Given the description of an element on the screen output the (x, y) to click on. 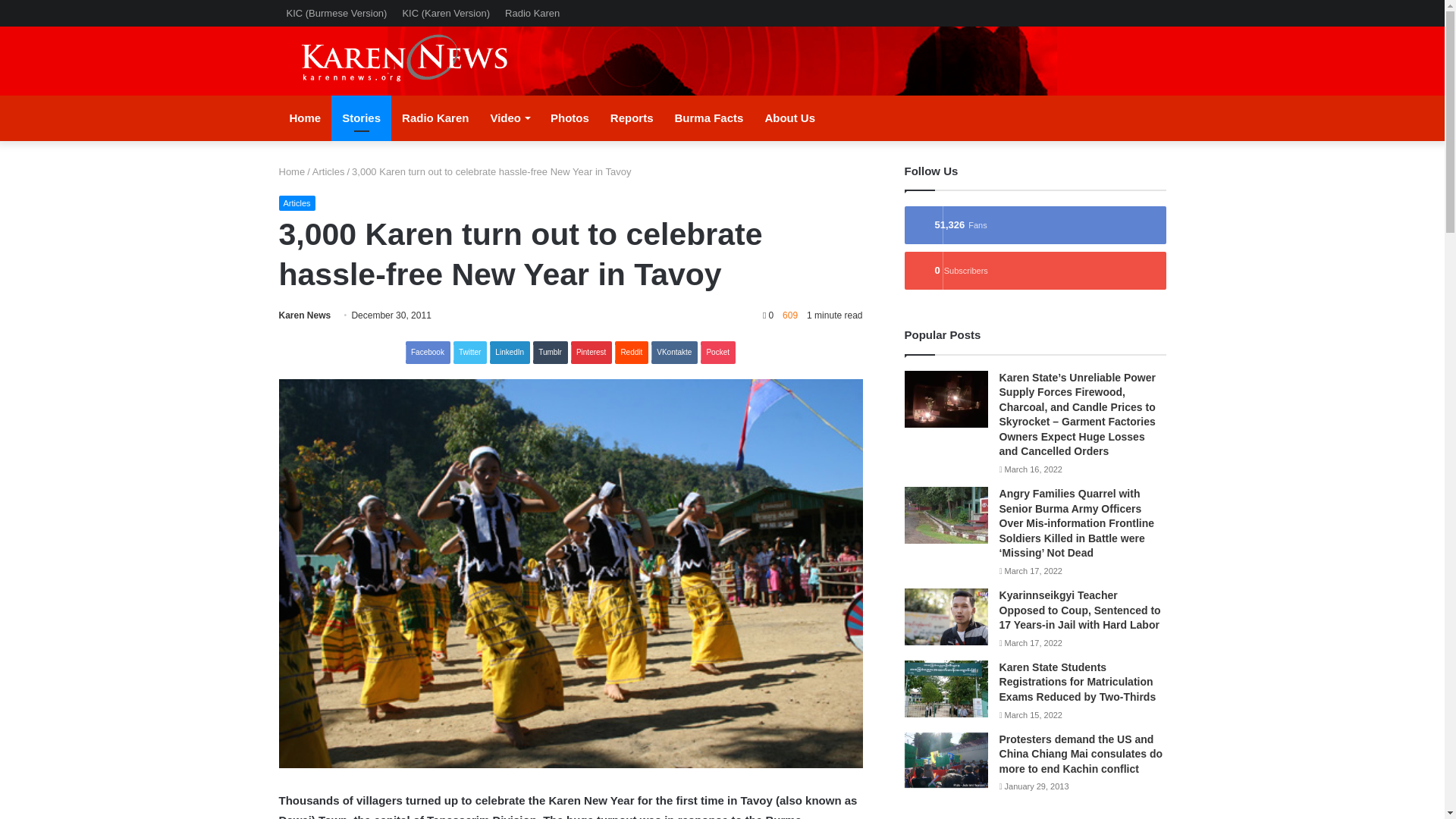
About Us (789, 117)
Video (509, 117)
Pinterest (590, 352)
Stories (361, 117)
Reports (631, 117)
Radio Karen (532, 13)
Reddit (630, 352)
Radio Karen (435, 117)
Home (292, 171)
Karen News (419, 60)
